Given the description of an element on the screen output the (x, y) to click on. 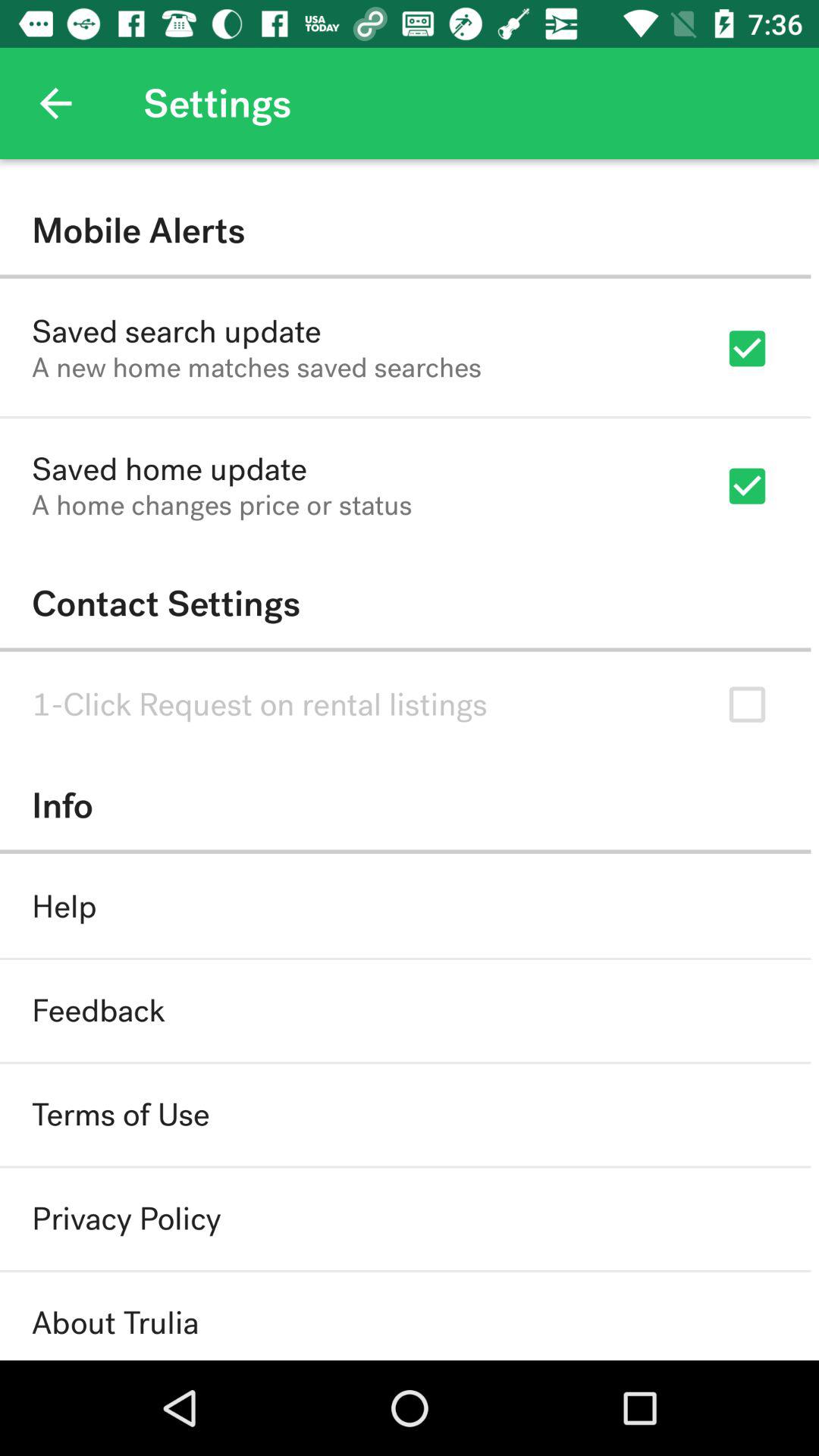
flip until privacy policy (126, 1219)
